Given the description of an element on the screen output the (x, y) to click on. 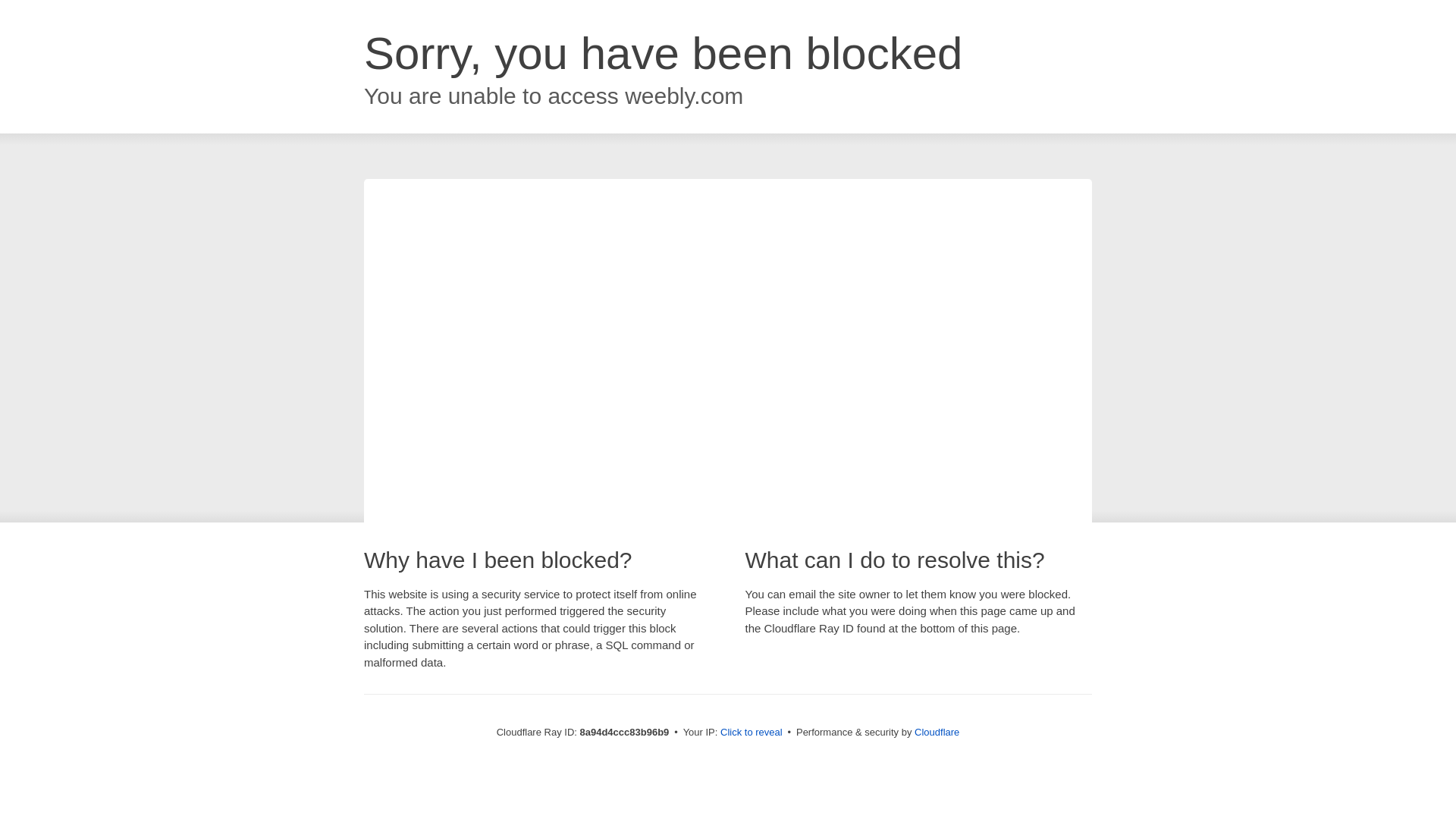
Click to reveal (751, 732)
Cloudflare (936, 731)
